Given the description of an element on the screen output the (x, y) to click on. 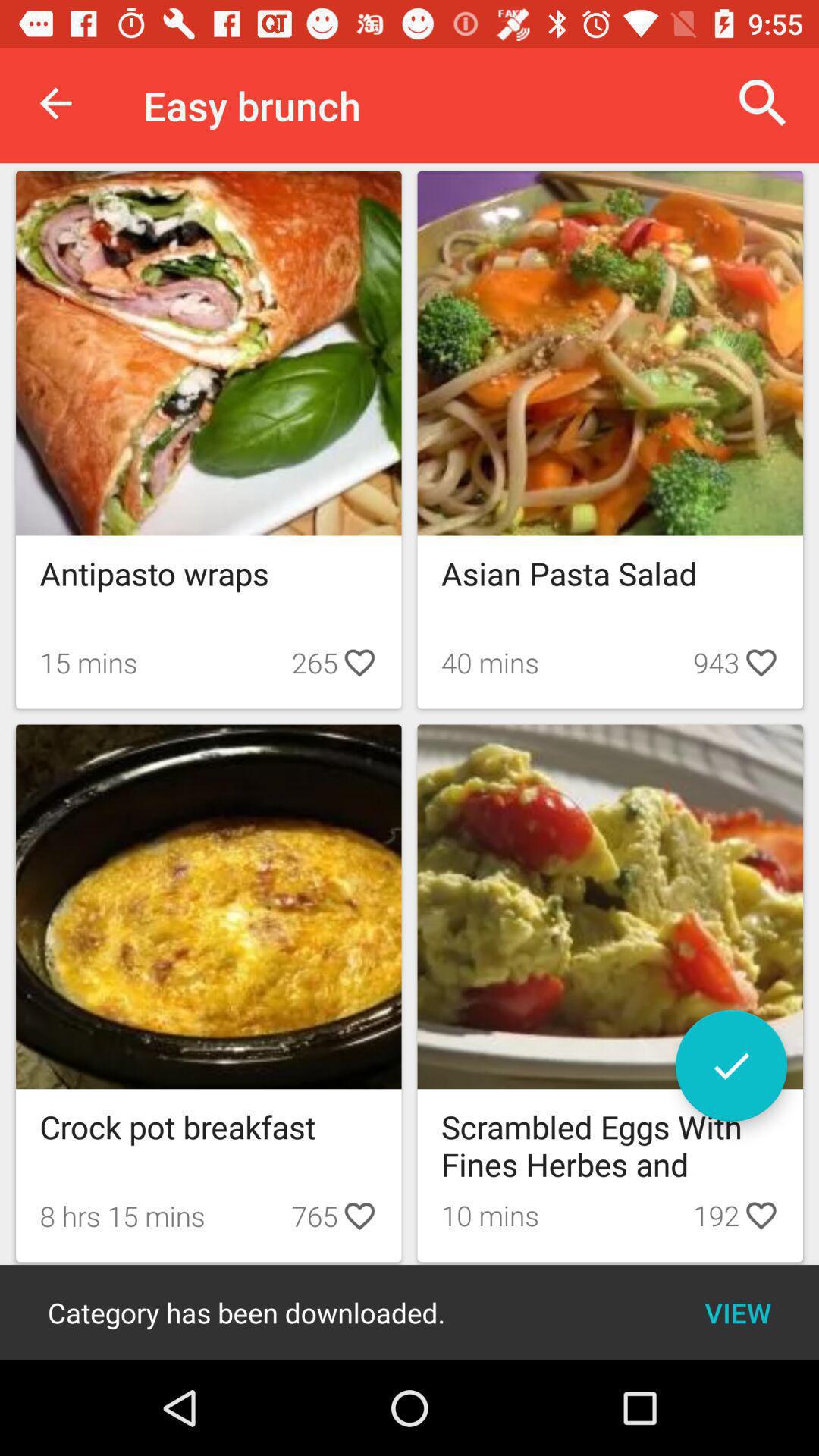
done (731, 1065)
